Given the description of an element on the screen output the (x, y) to click on. 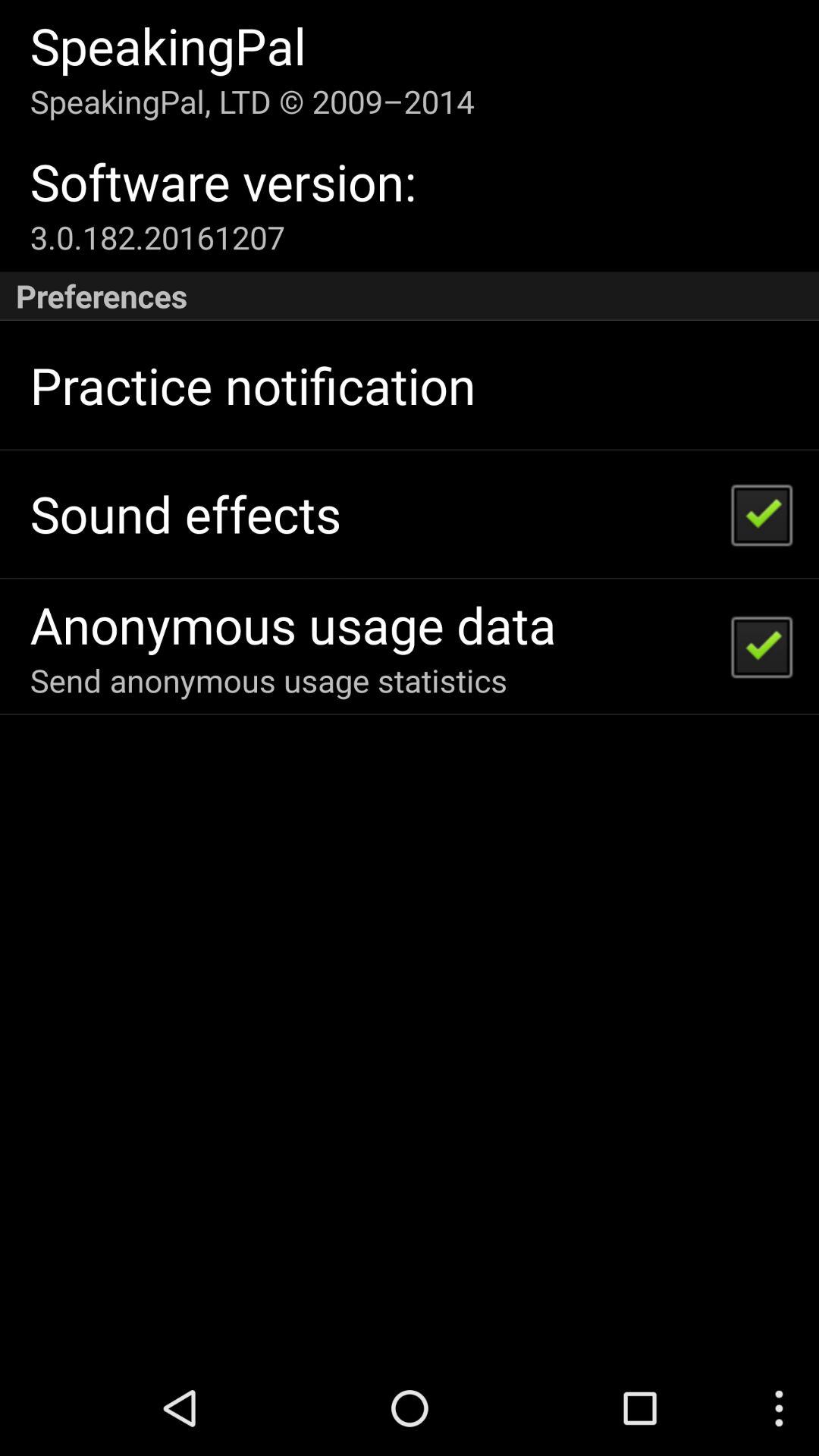
click practice notification icon (253, 385)
